Given the description of an element on the screen output the (x, y) to click on. 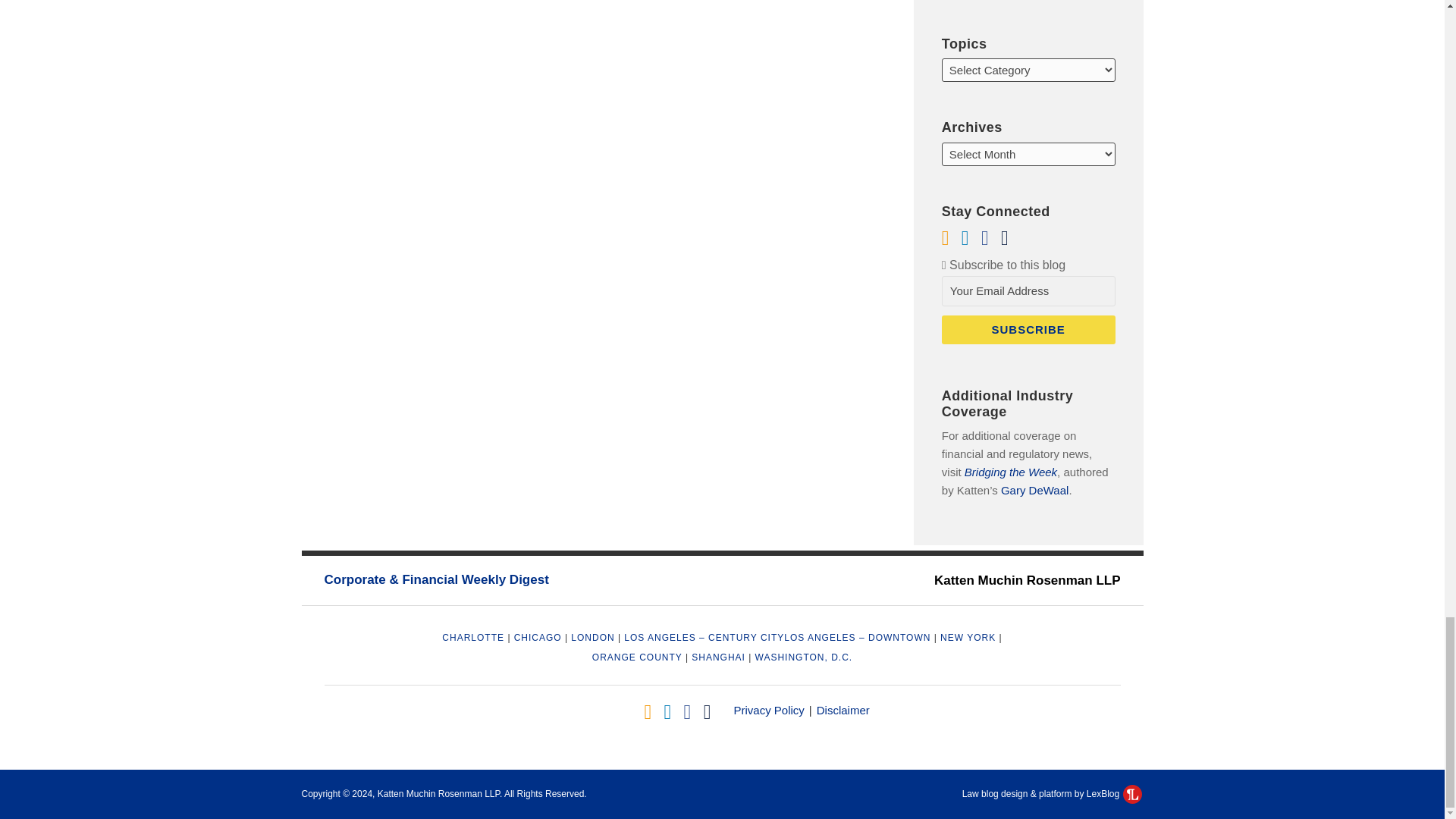
LexBlog Logo (1131, 793)
Subscribe (1028, 329)
